Given the description of an element on the screen output the (x, y) to click on. 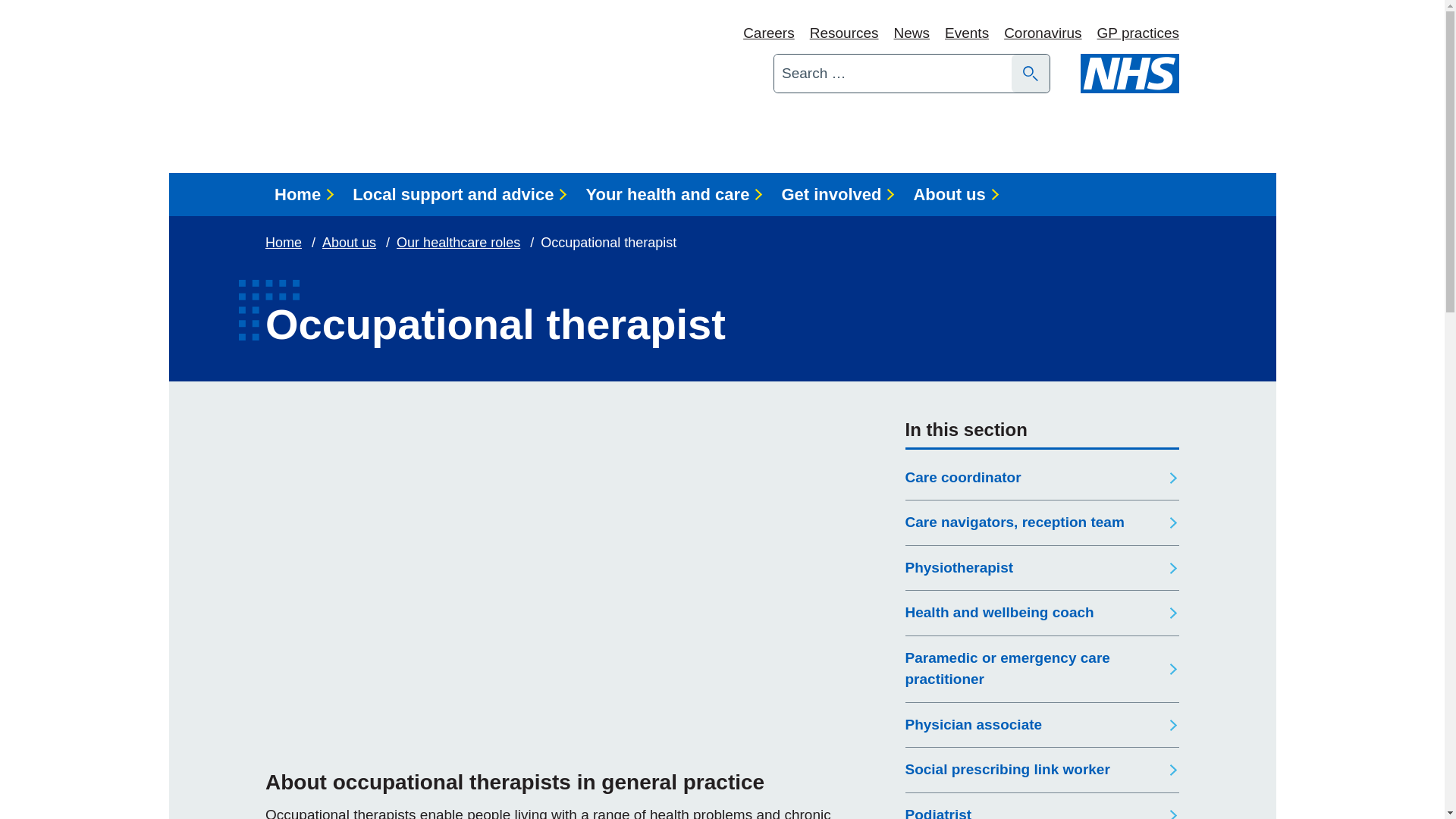
Home (303, 194)
Resources (844, 33)
News (911, 33)
Go to About us. (349, 242)
Home (284, 242)
Go to Our healthcare roles. (459, 242)
Go to The Brentwood Primary Care Network. (284, 242)
Our healthcare roles (459, 242)
Your health and care (673, 194)
